Given the description of an element on the screen output the (x, y) to click on. 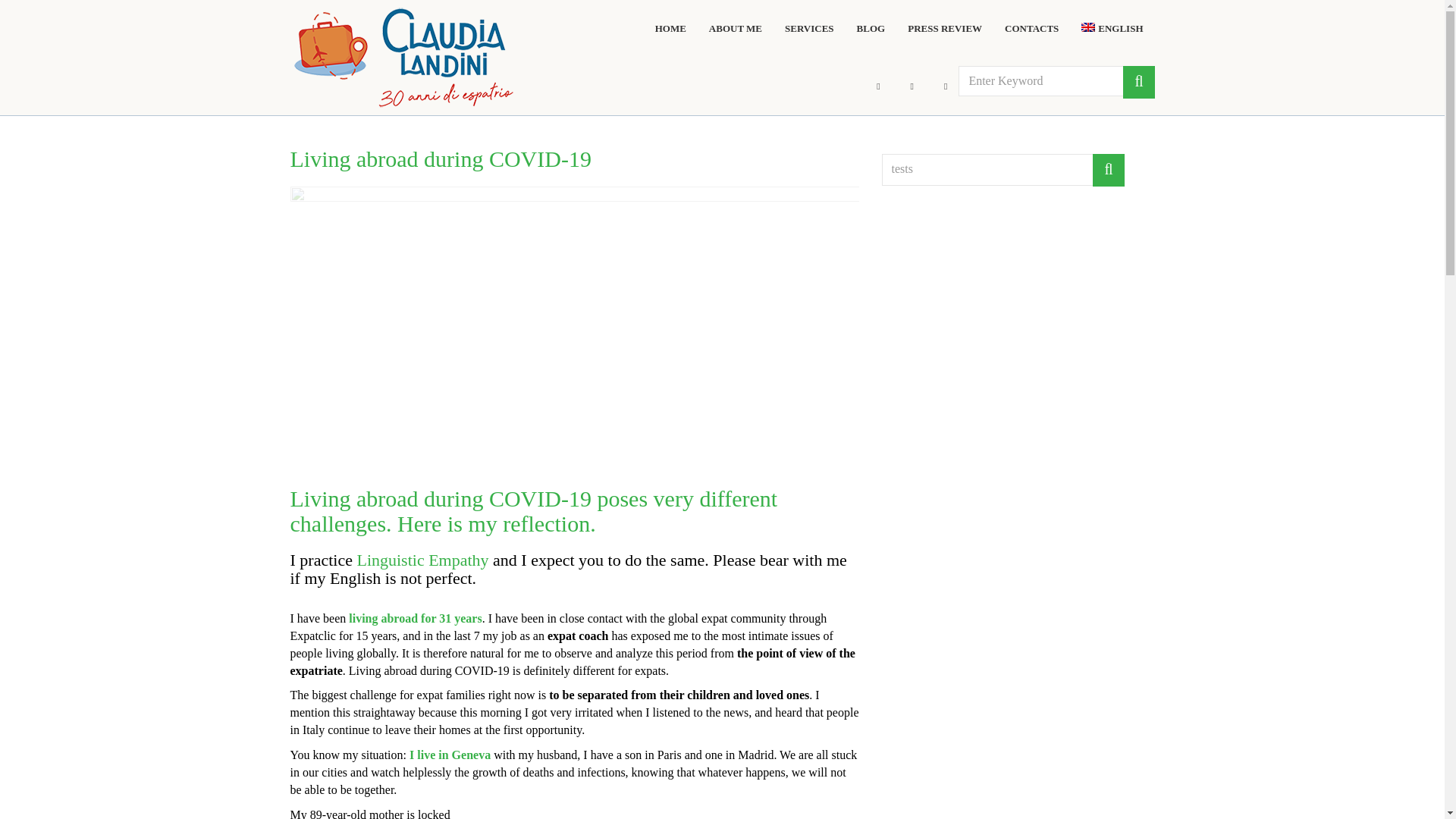
CONTACTS (1031, 29)
ENGLISH (1111, 29)
English (1111, 29)
living abroad for 31 years (415, 617)
Linguistic Empathy (421, 559)
PRESS REVIEW (944, 29)
ABOUT ME (735, 29)
I live in Geneva (449, 754)
